Given the description of an element on the screen output the (x, y) to click on. 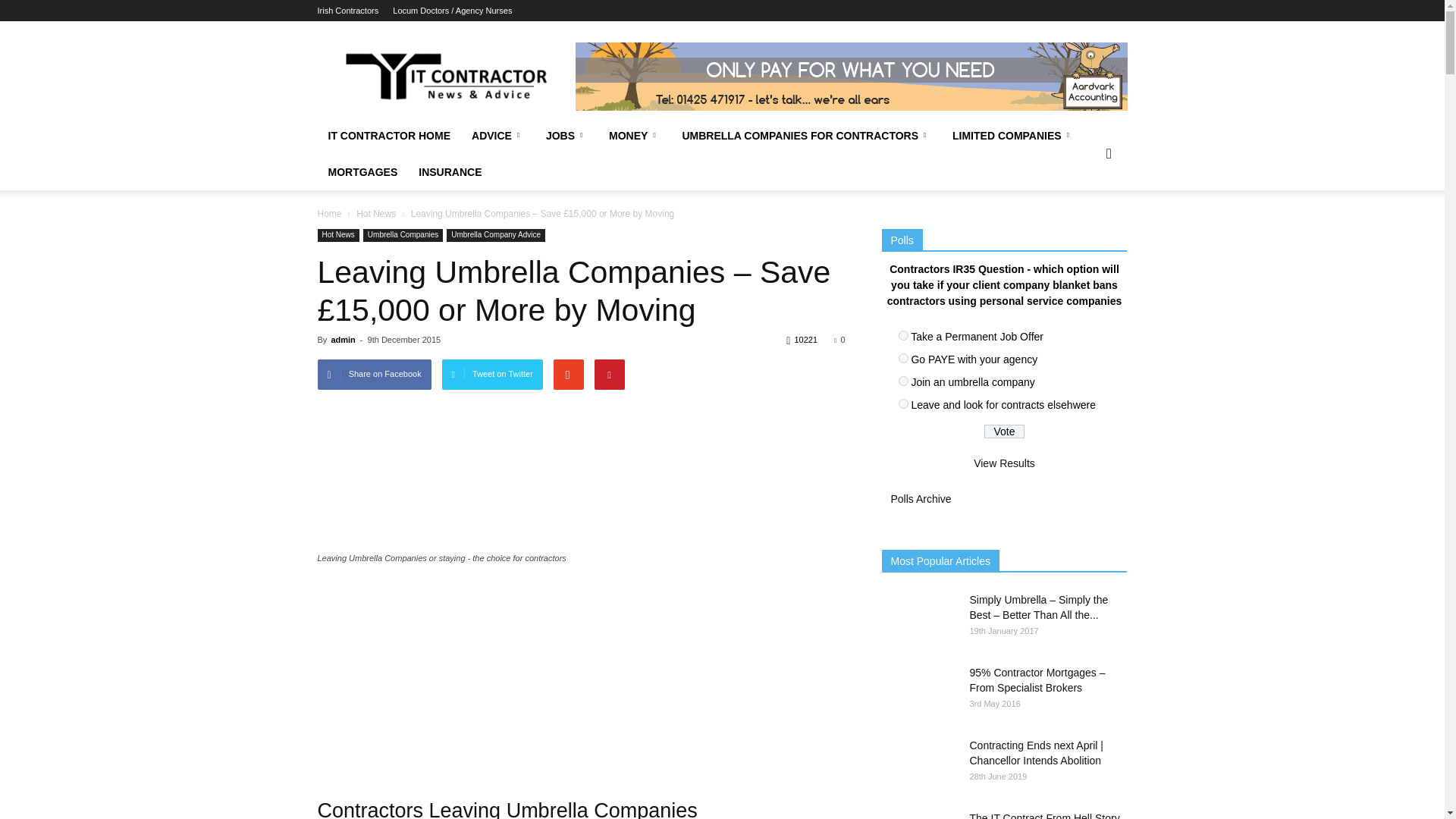
16 (902, 380)
View Results Of This Poll (1004, 463)
15 (902, 357)
View all posts in Hot News (376, 213)
Irish Contractors (347, 10)
14 (902, 335)
   Vote    (1004, 431)
17 (902, 403)
